Given the description of an element on the screen output the (x, y) to click on. 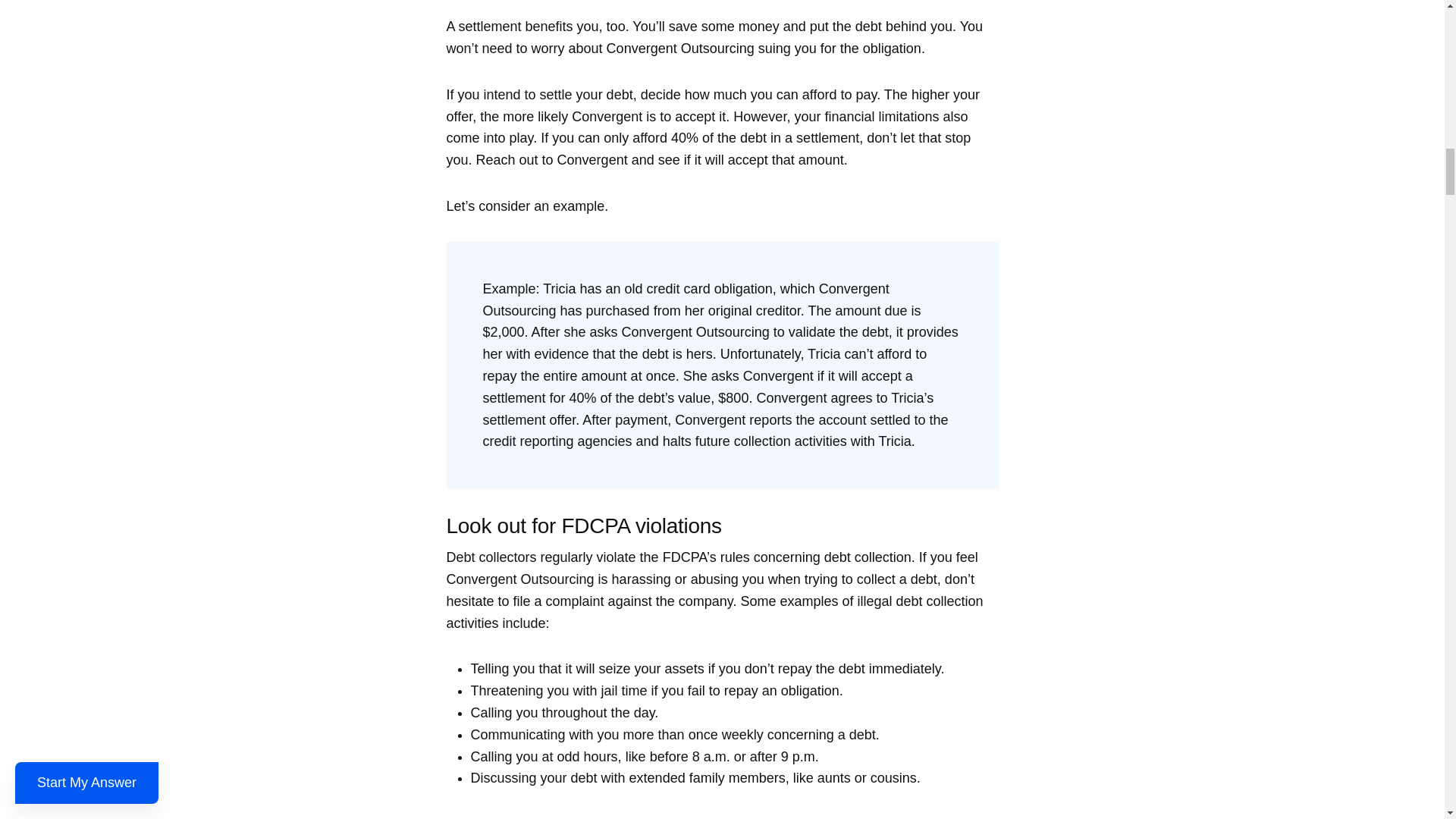
complete list of FDCPA violations (615, 817)
